Given the description of an element on the screen output the (x, y) to click on. 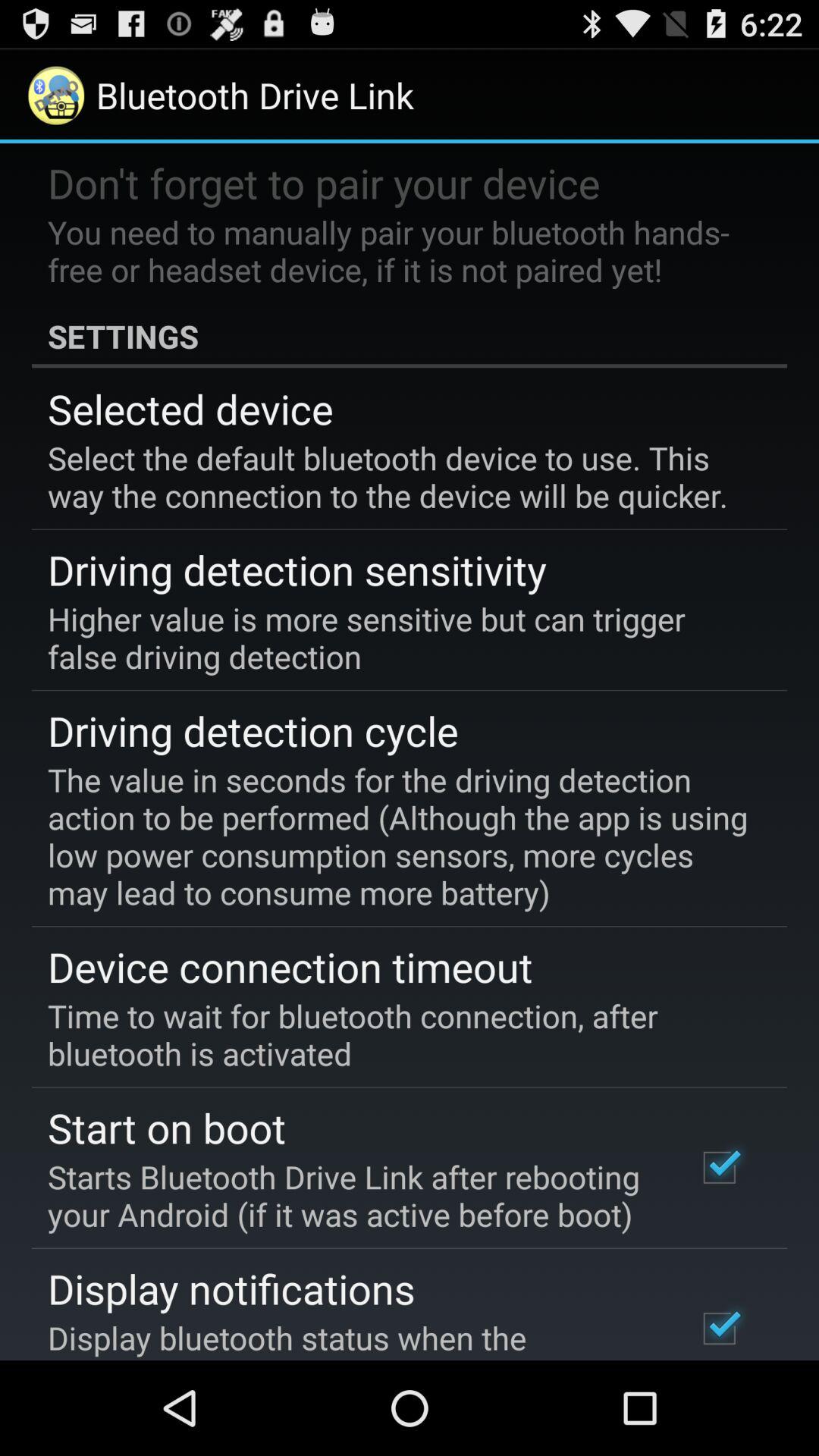
select time to wait item (399, 1034)
